Given the description of an element on the screen output the (x, y) to click on. 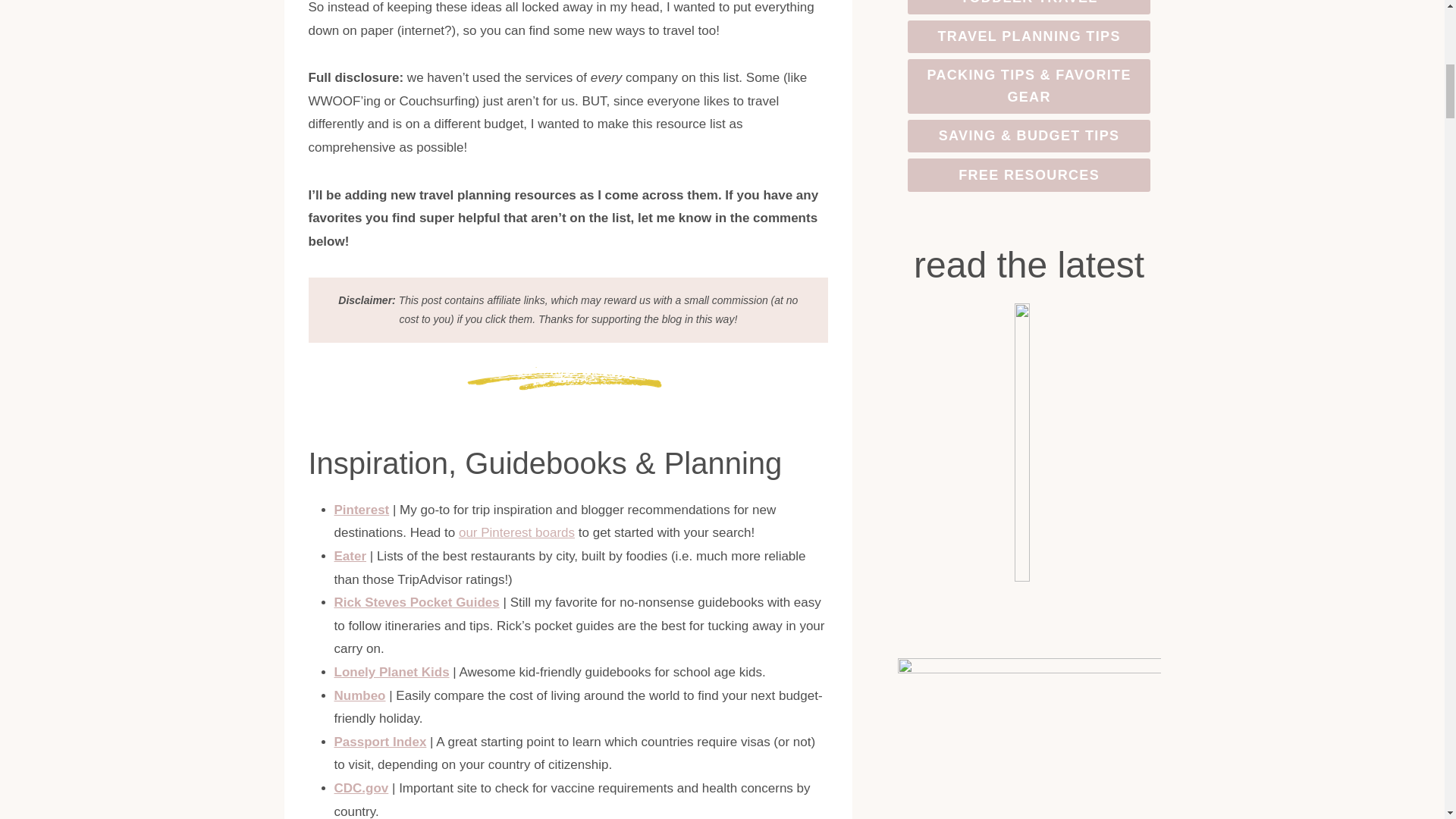
Passport Index (379, 741)
CDC.gov (360, 788)
Rick Steves Pocket Guides (416, 602)
Eater (349, 555)
Numbeo (359, 695)
Pinterest (360, 509)
Lonely Planet Kids (390, 672)
our Pinterest boards (516, 532)
